Given the description of an element on the screen output the (x, y) to click on. 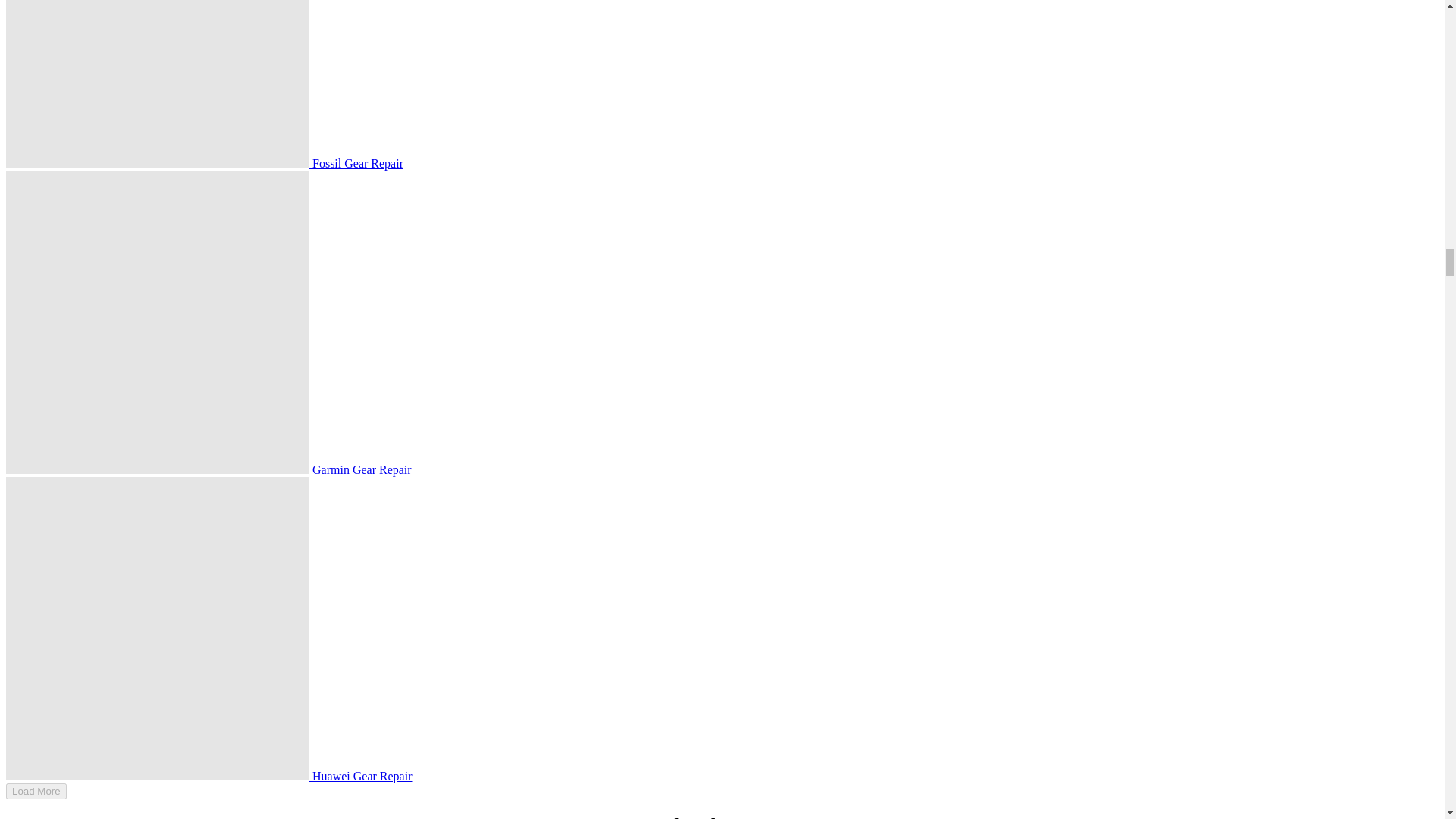
Fossil Gear Repair (156, 83)
Garmin Gear Repair (156, 322)
Huawei Gear Repair (156, 628)
